Given the description of an element on the screen output the (x, y) to click on. 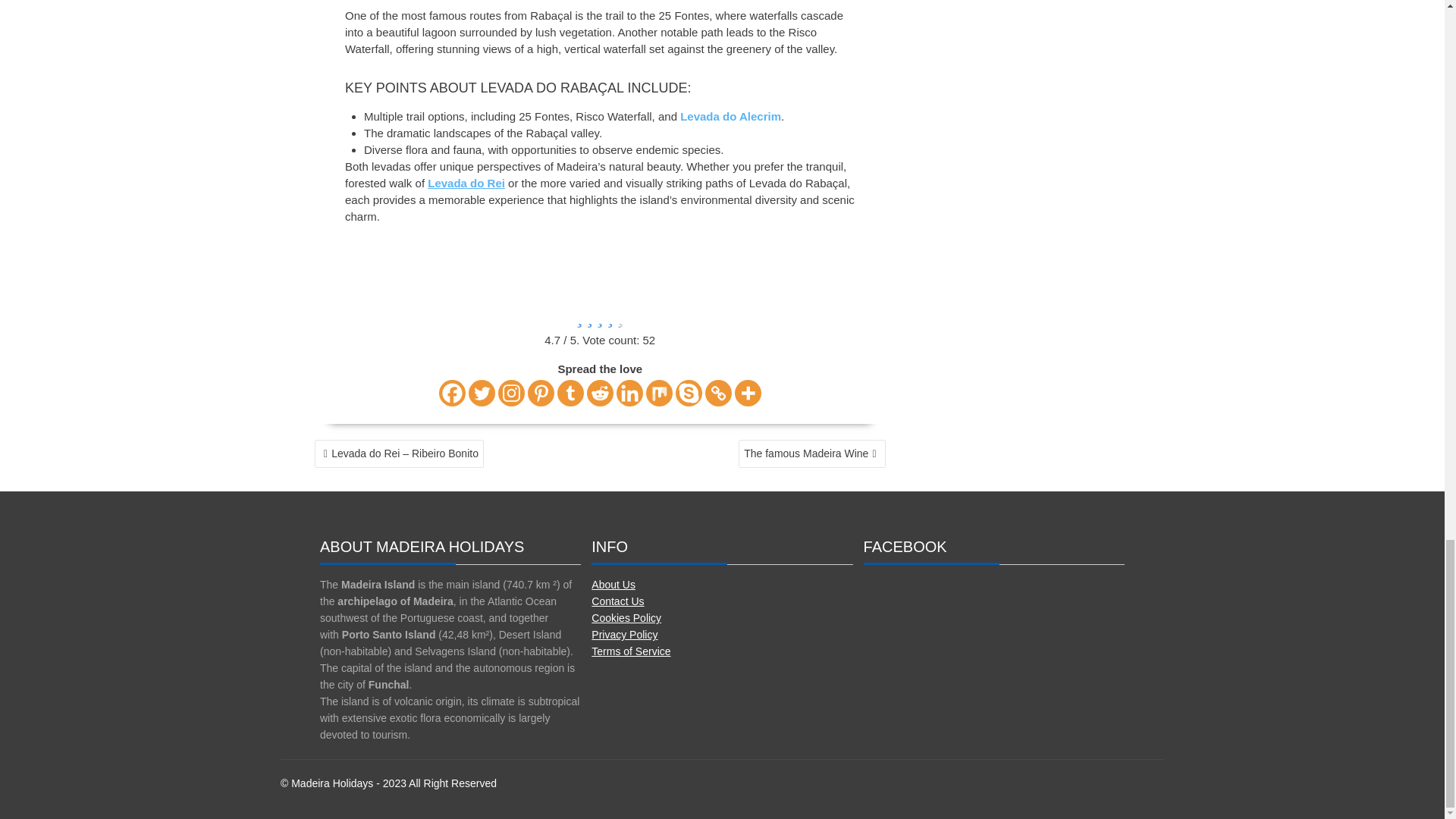
Levada do Rei (466, 182)
Facebook (452, 393)
Levada do Alecrim (729, 115)
Twitter (481, 393)
